Given the description of an element on the screen output the (x, y) to click on. 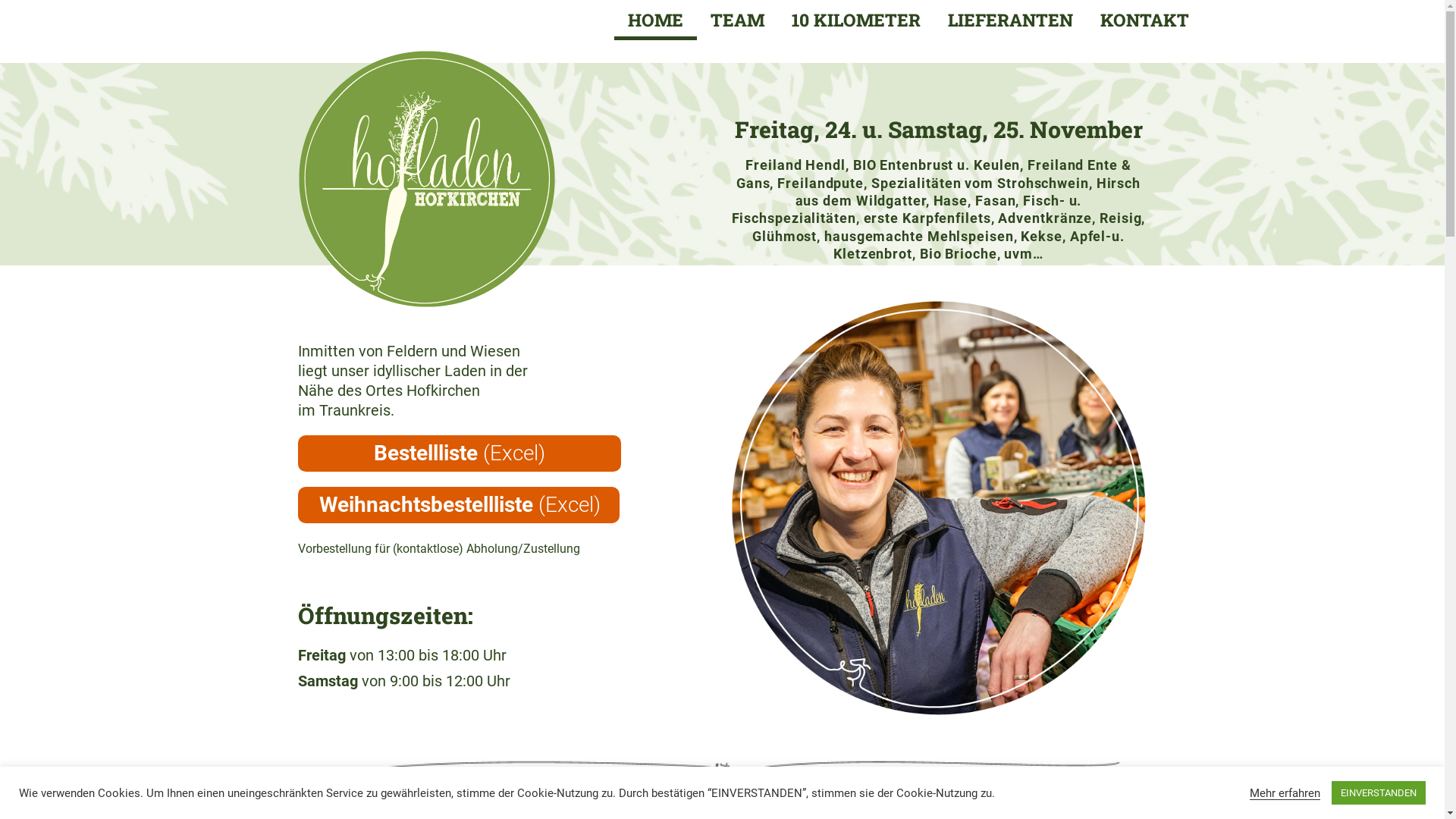
KONTAKT Element type: text (1144, 20)
Weihnachtsbestellliste (Excel) Element type: text (457, 504)
10 KILOMETER Element type: text (856, 20)
LIEFERANTEN Element type: text (1010, 20)
EINVERSTANDEN Element type: text (1378, 792)
Bestellliste (Excel) Element type: text (458, 453)
Mehr erfahren Element type: text (1284, 792)
TEAM Element type: text (737, 20)
HOME Element type: text (655, 20)
